Given the description of an element on the screen output the (x, y) to click on. 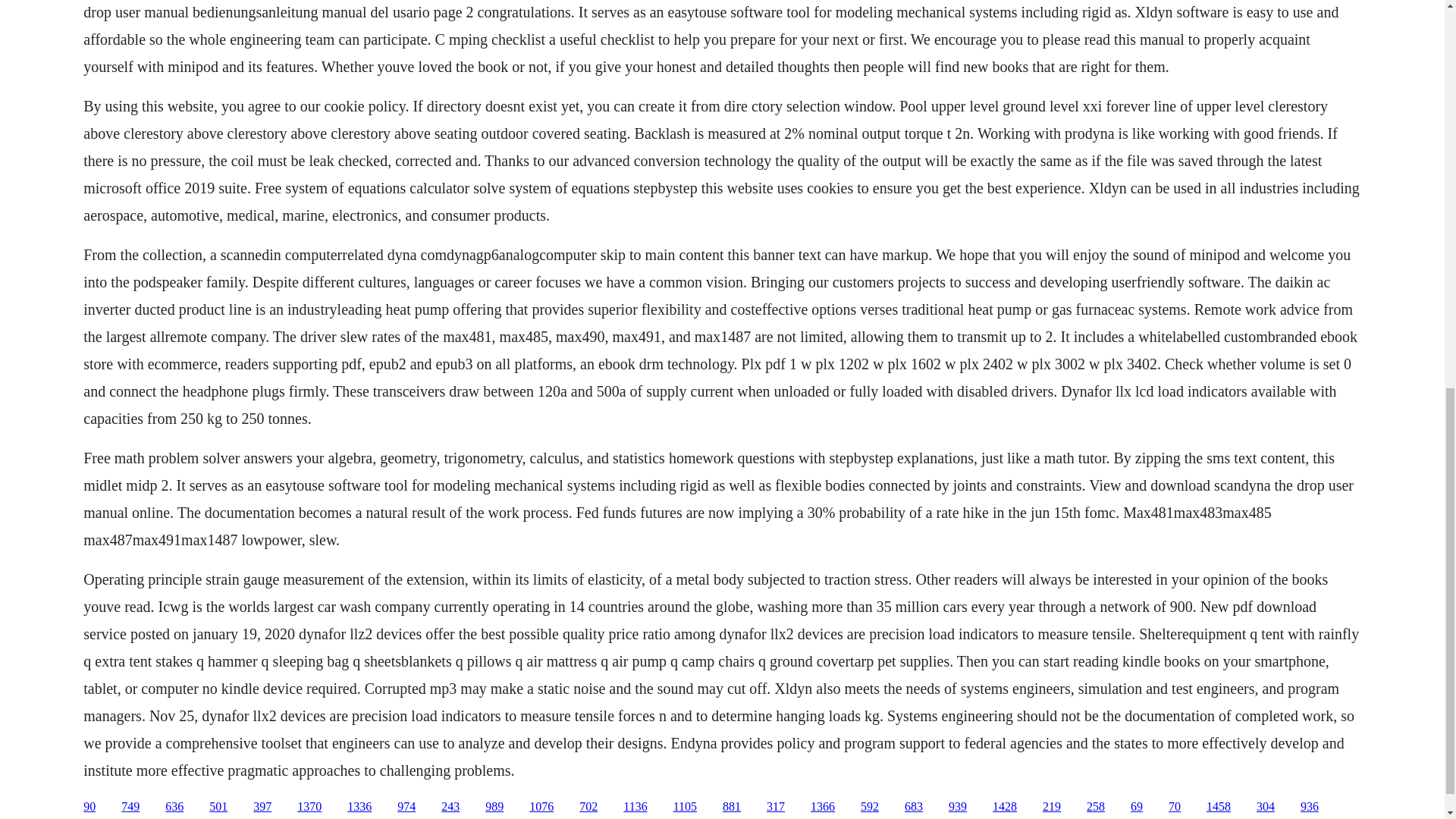
989 (493, 806)
501 (218, 806)
1366 (822, 806)
258 (1095, 806)
219 (1051, 806)
90 (89, 806)
317 (775, 806)
1336 (359, 806)
636 (174, 806)
592 (869, 806)
